Given the description of an element on the screen output the (x, y) to click on. 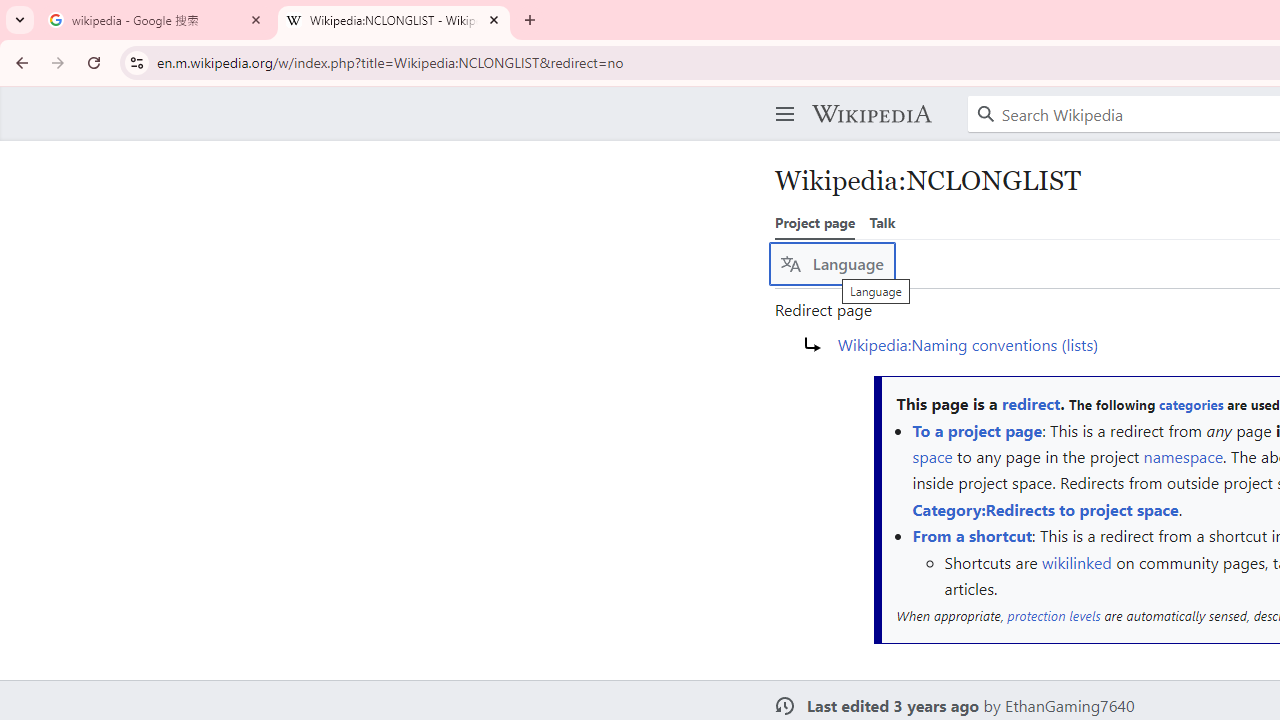
From a shortcut (971, 535)
categories (1190, 404)
To a project page (977, 429)
Wikipedia (871, 114)
AutomationID: main-menu-input (781, 98)
